Given the description of an element on the screen output the (x, y) to click on. 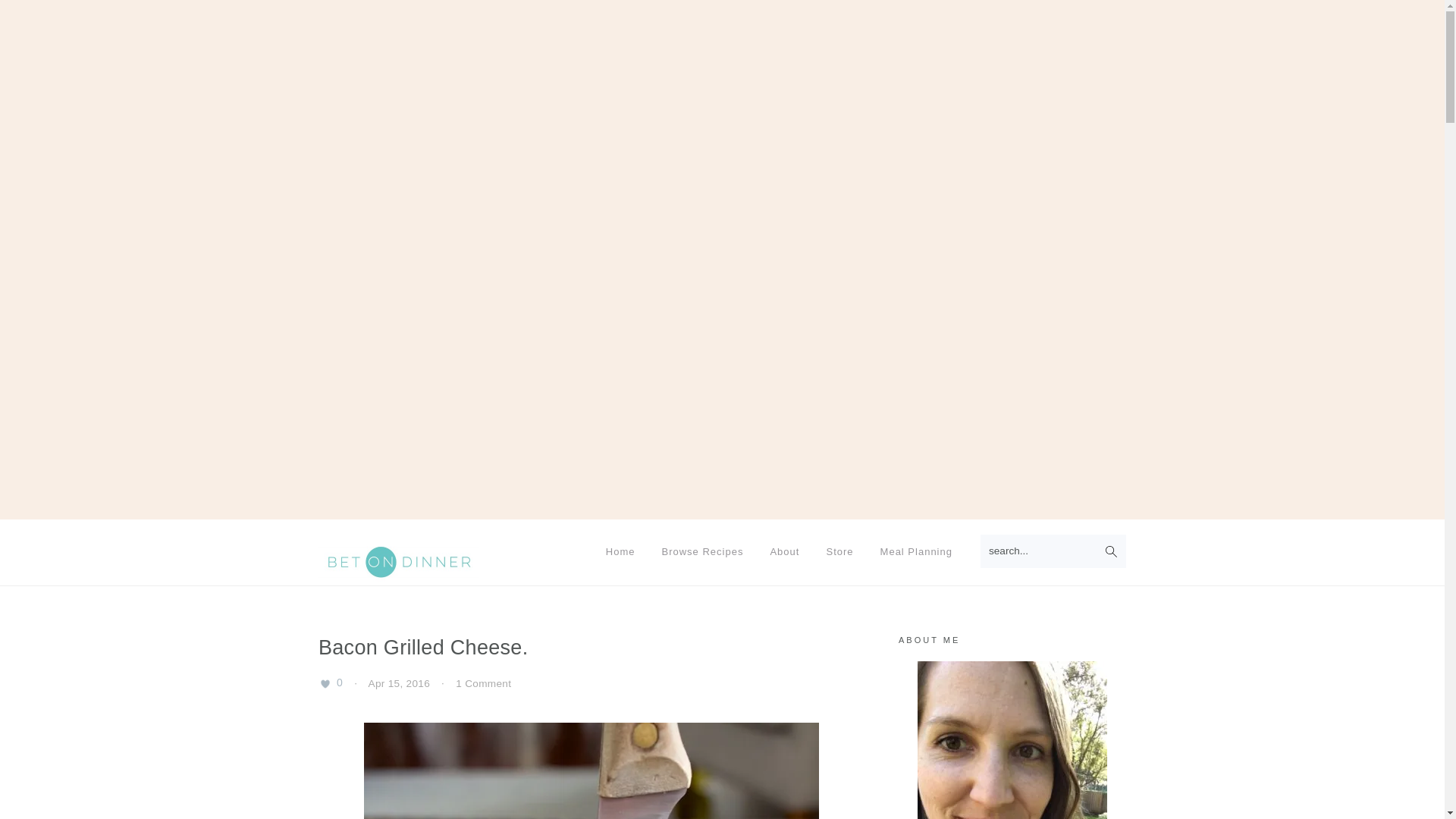
Store (838, 551)
Home (620, 551)
Meal Planning (916, 551)
About (784, 551)
Bet On Dinner (399, 561)
